Given the description of an element on the screen output the (x, y) to click on. 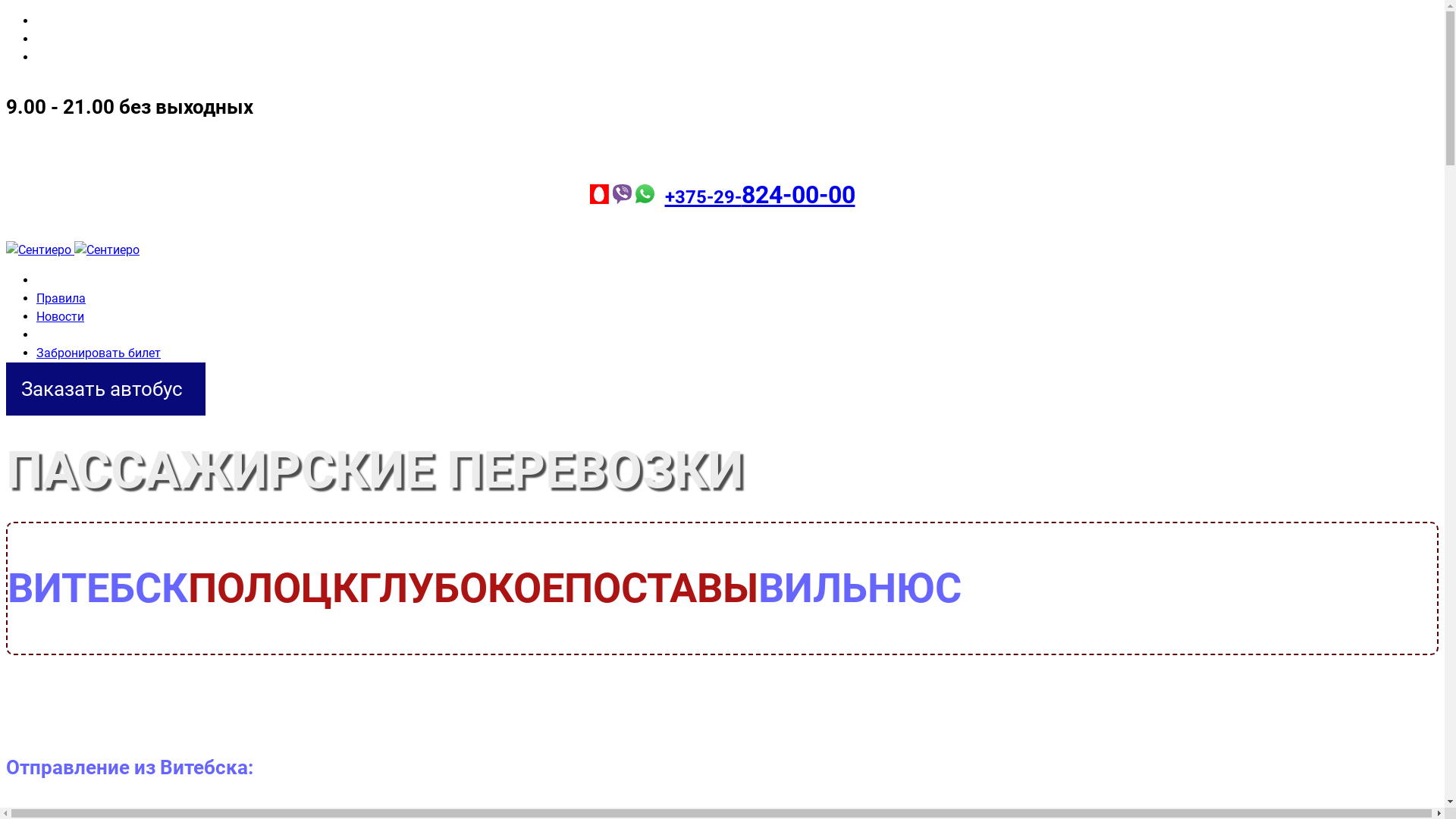
+375-29-824-00-00 Element type: text (759, 194)
